Given the description of an element on the screen output the (x, y) to click on. 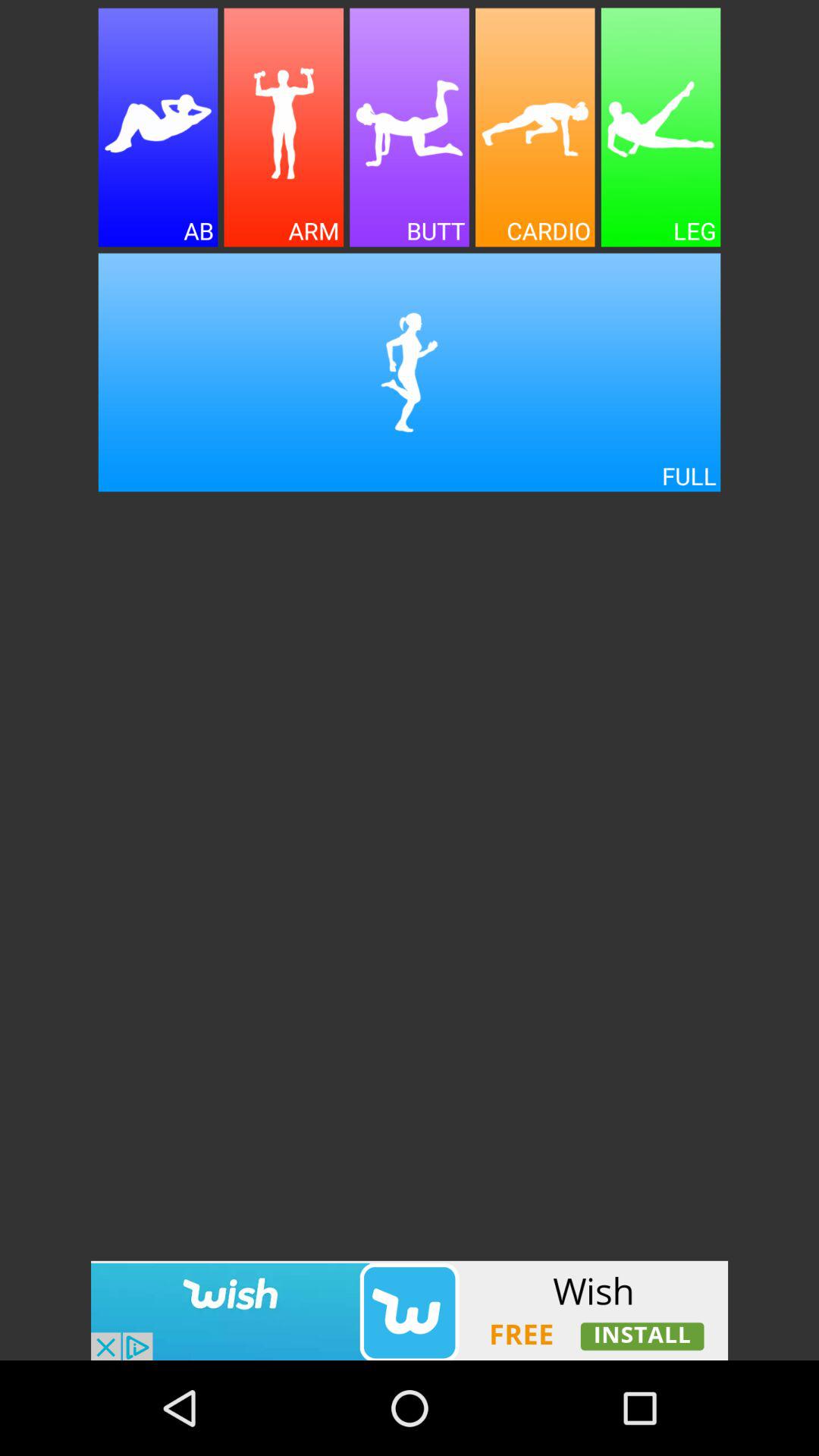
click on ab (157, 126)
